Given the description of an element on the screen output the (x, y) to click on. 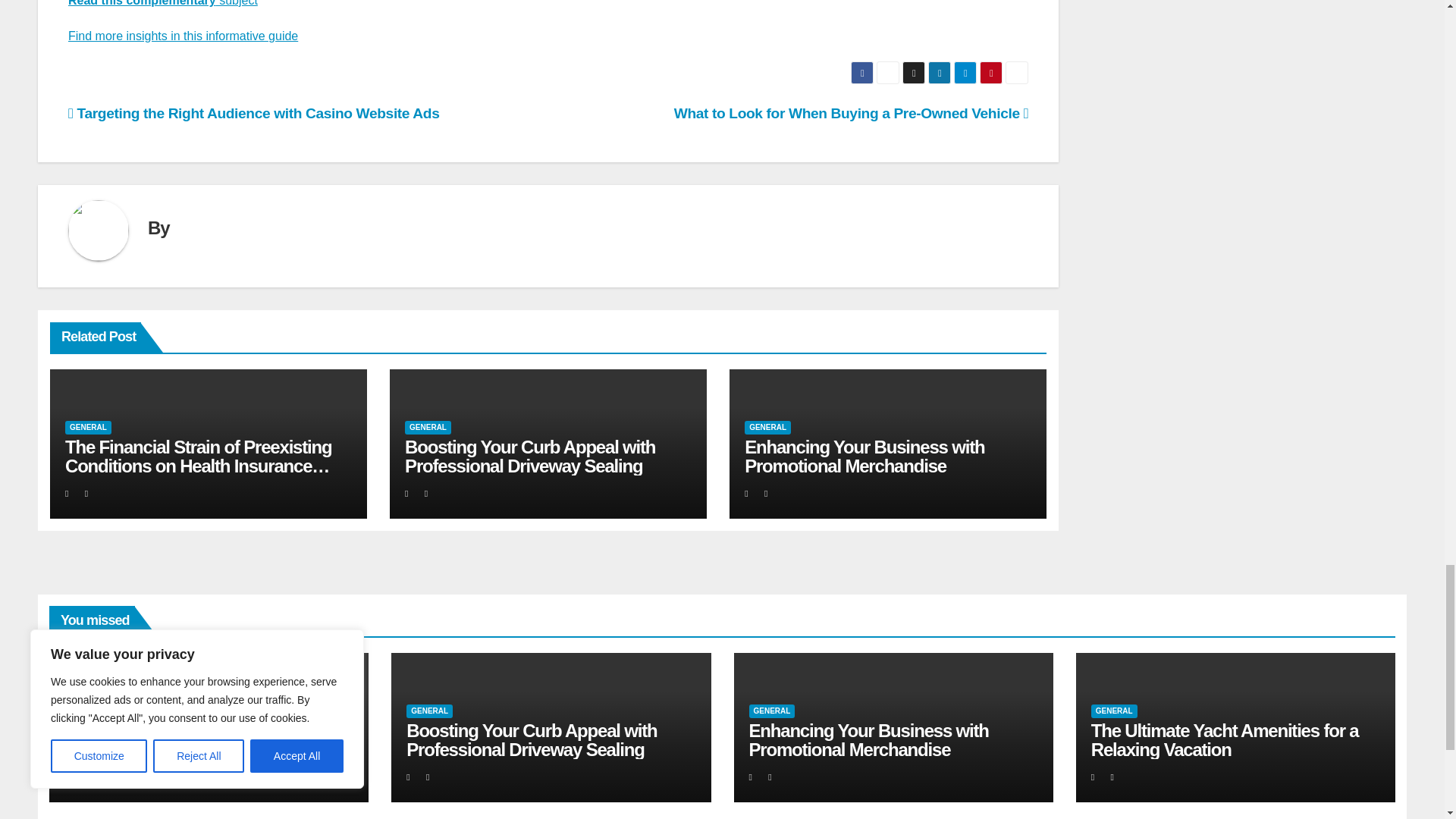
Find more insights in this informative guide (183, 35)
Read this complementary subject (162, 3)
